Given the description of an element on the screen output the (x, y) to click on. 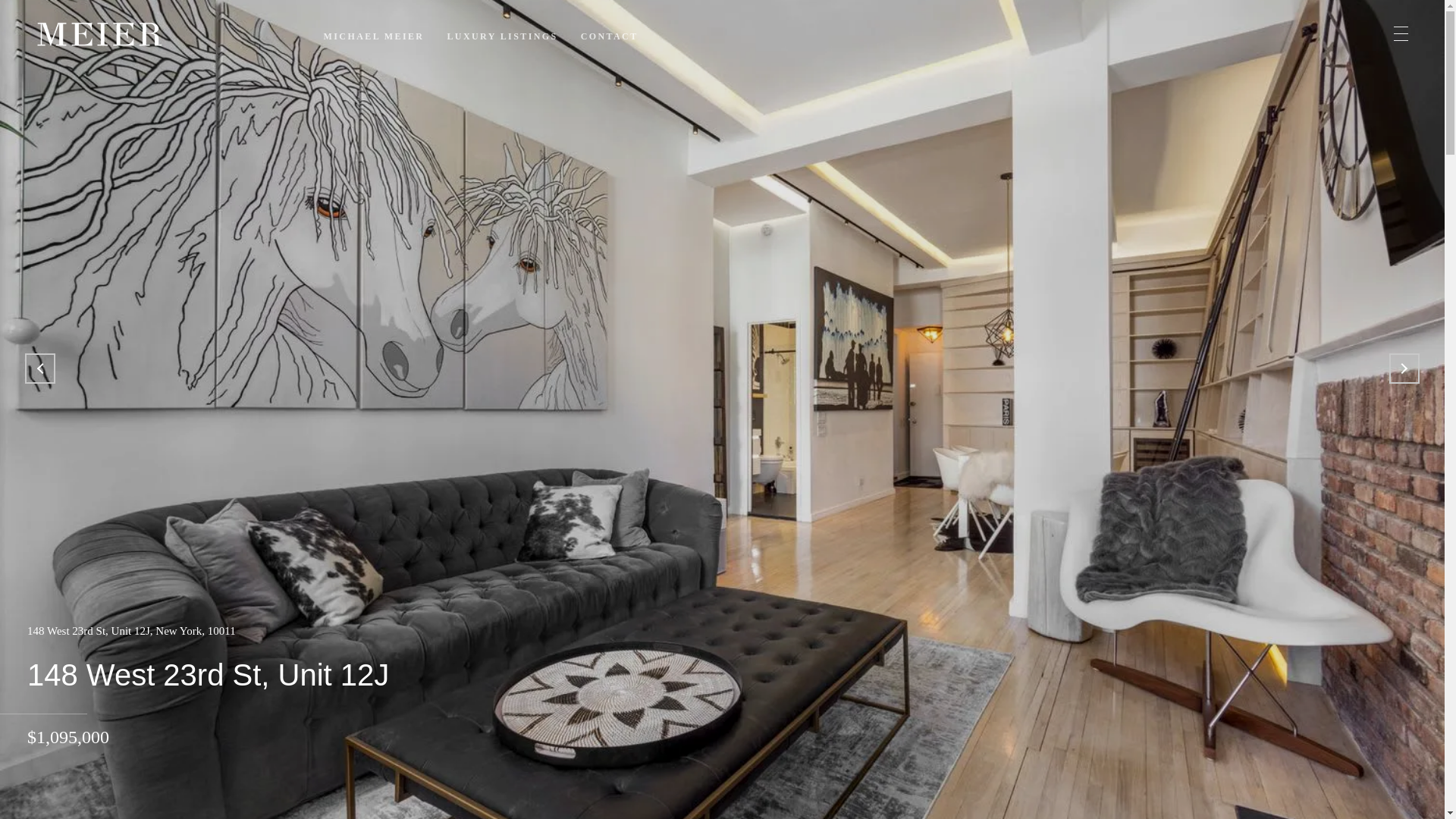
LUXURY LISTINGS (501, 36)
MICHAEL MEIER (374, 36)
CONTACT (609, 36)
